Given the description of an element on the screen output the (x, y) to click on. 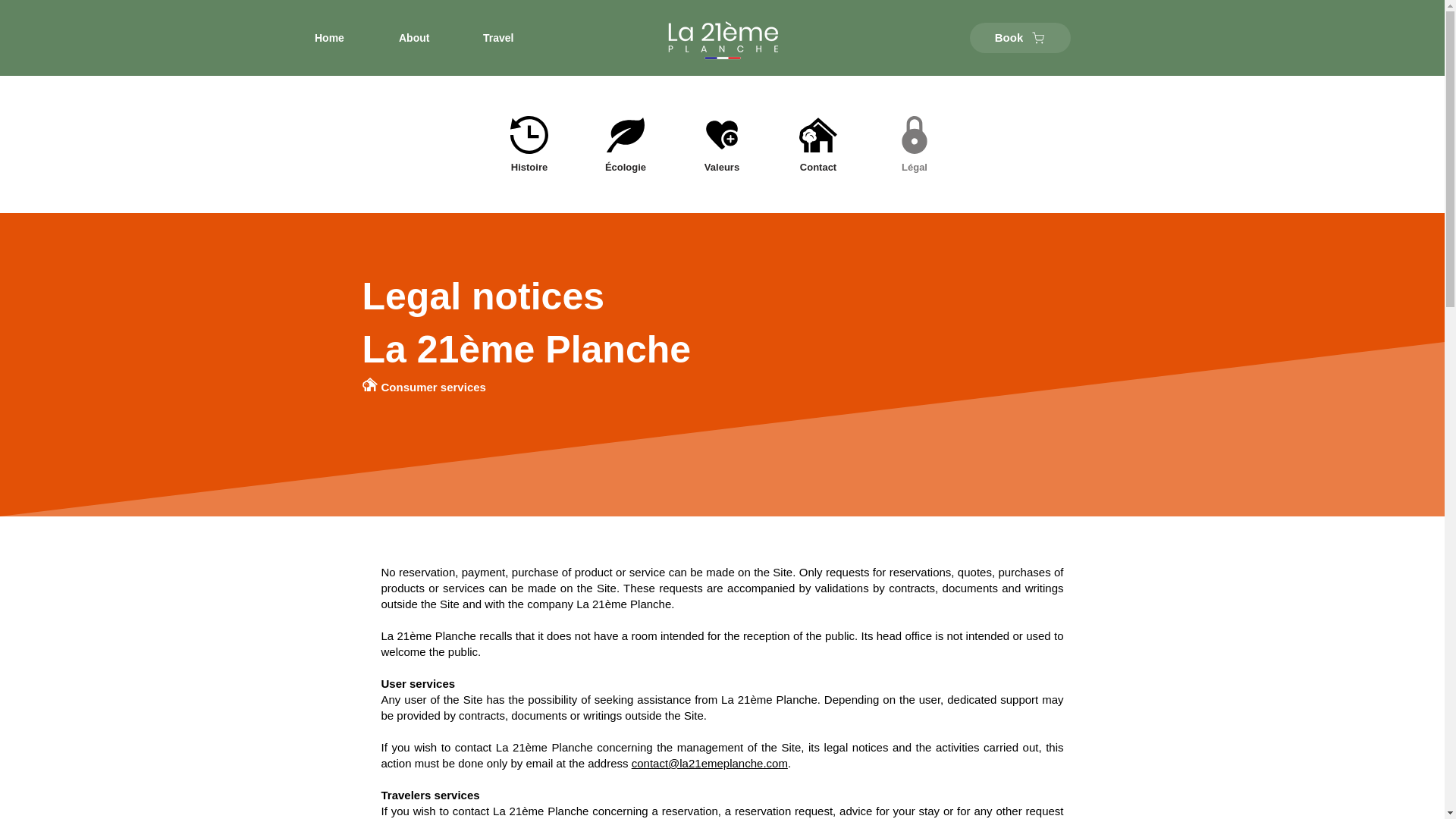
Valeurs (722, 144)
Book (1019, 37)
Home (344, 37)
Contact (818, 144)
Travel (513, 37)
About (429, 37)
Go to homepage (721, 37)
Histoire (529, 144)
